Given the description of an element on the screen output the (x, y) to click on. 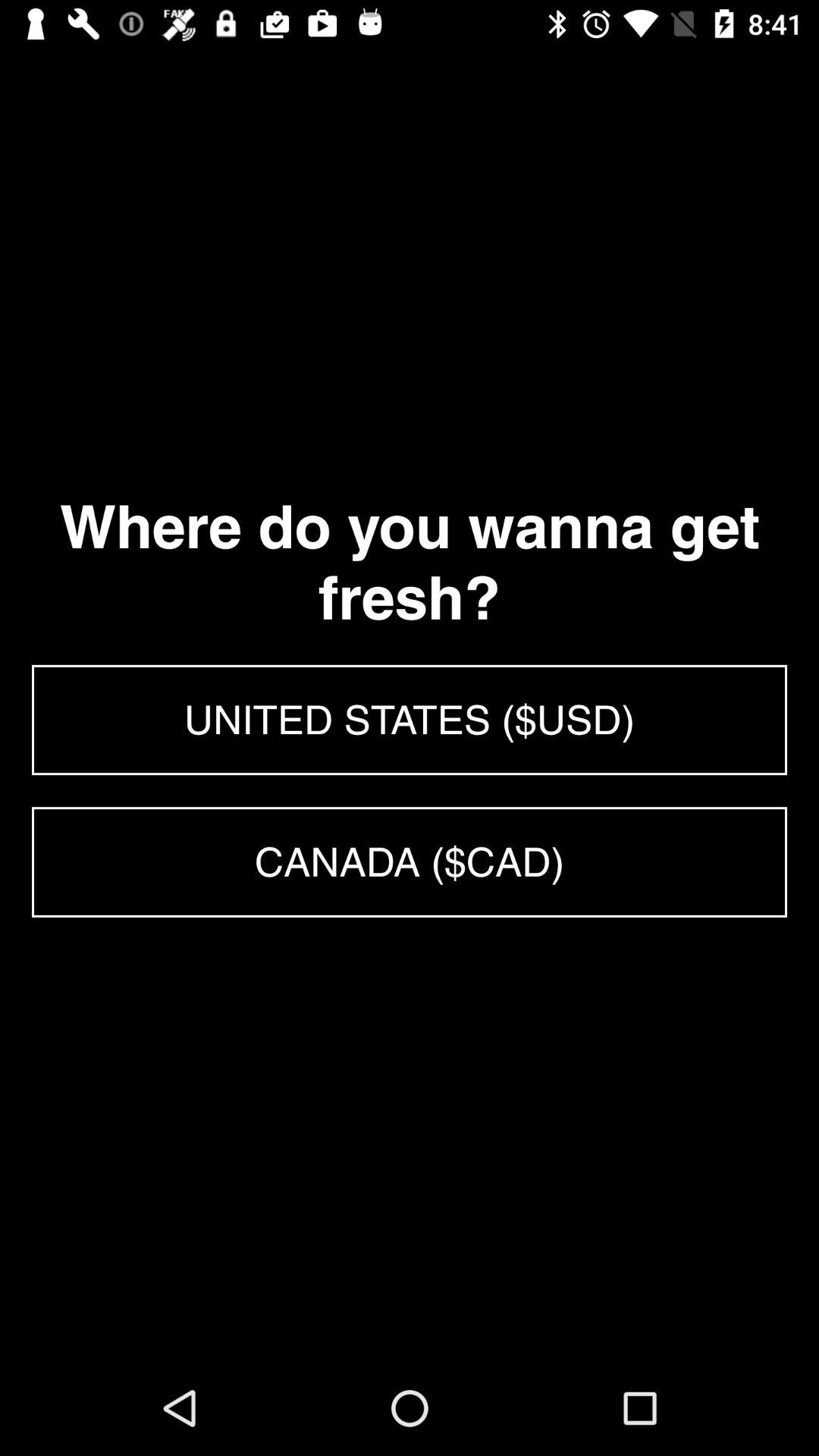
open icon below the united states ($usd) (409, 862)
